Given the description of an element on the screen output the (x, y) to click on. 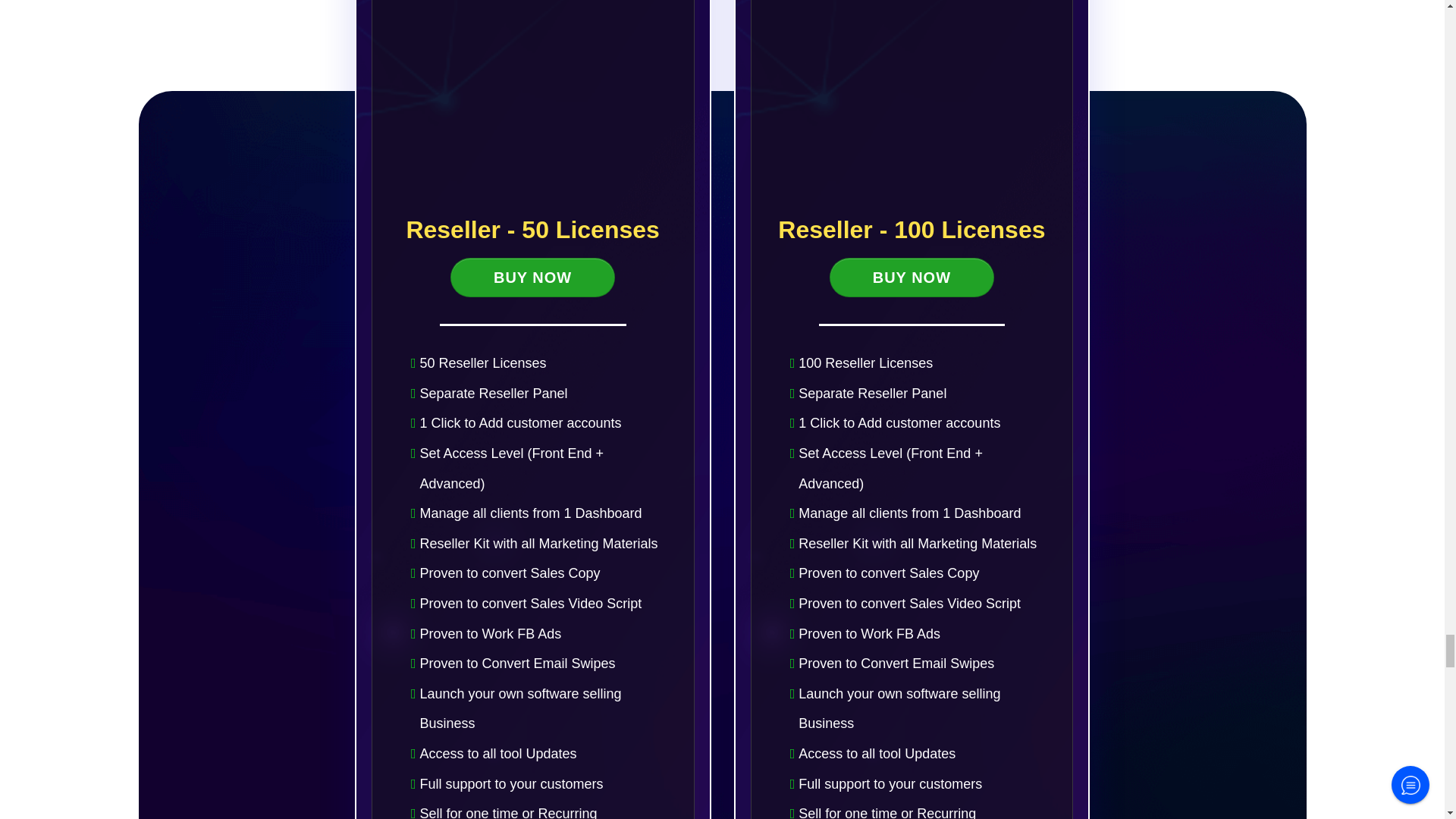
BUY NOW (531, 277)
BUY NOW (911, 277)
